Given the description of an element on the screen output the (x, y) to click on. 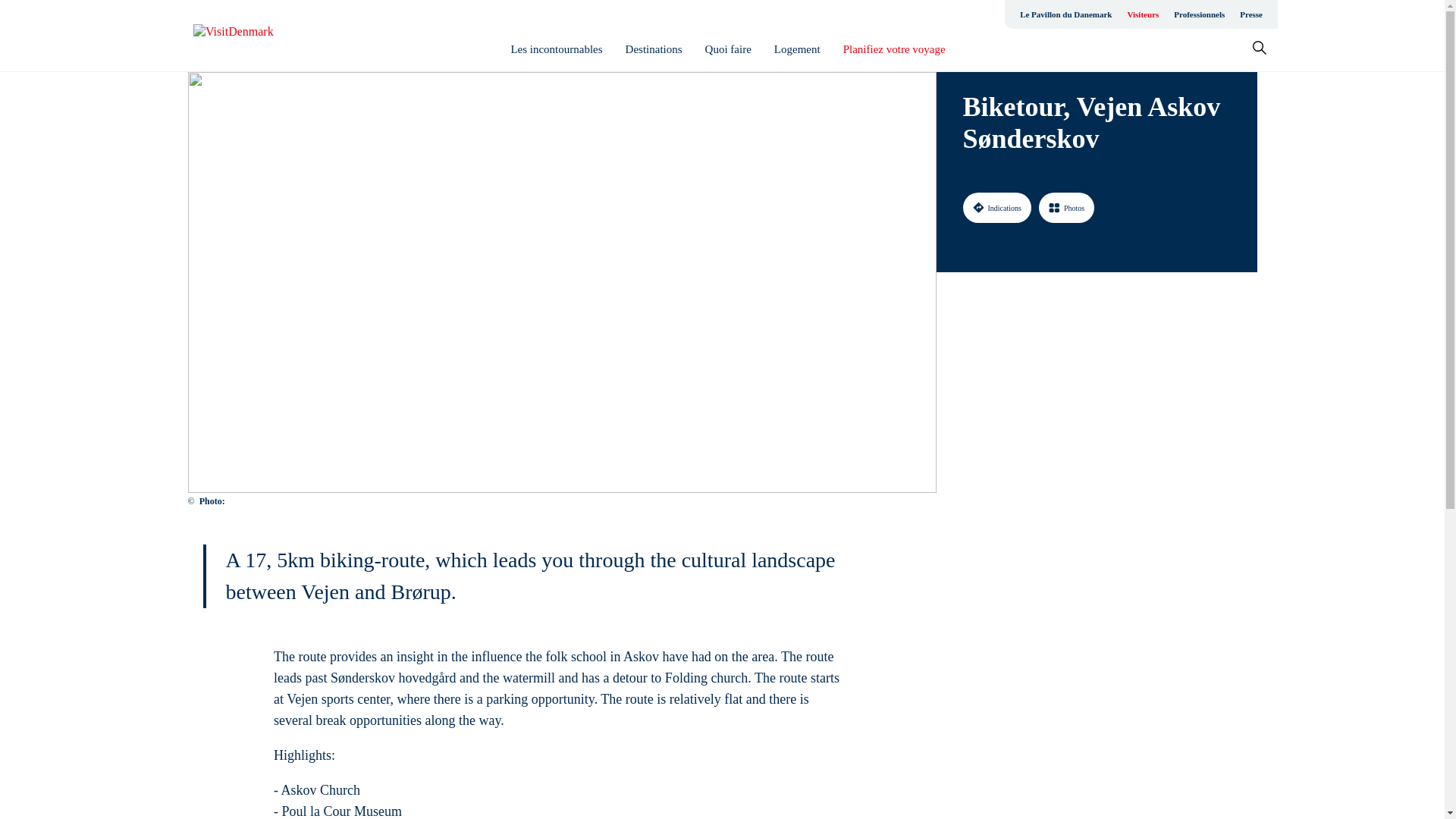
Indications (996, 207)
Le Pavillon du Danemark (1065, 14)
Photos (1066, 207)
Presse (1250, 14)
Destinations (654, 49)
Professionnels (1198, 14)
Logement (797, 49)
Planifiez votre voyage (893, 49)
Visiteurs (1142, 14)
Quoi faire (727, 49)
Les incontournables (556, 49)
